Given the description of an element on the screen output the (x, y) to click on. 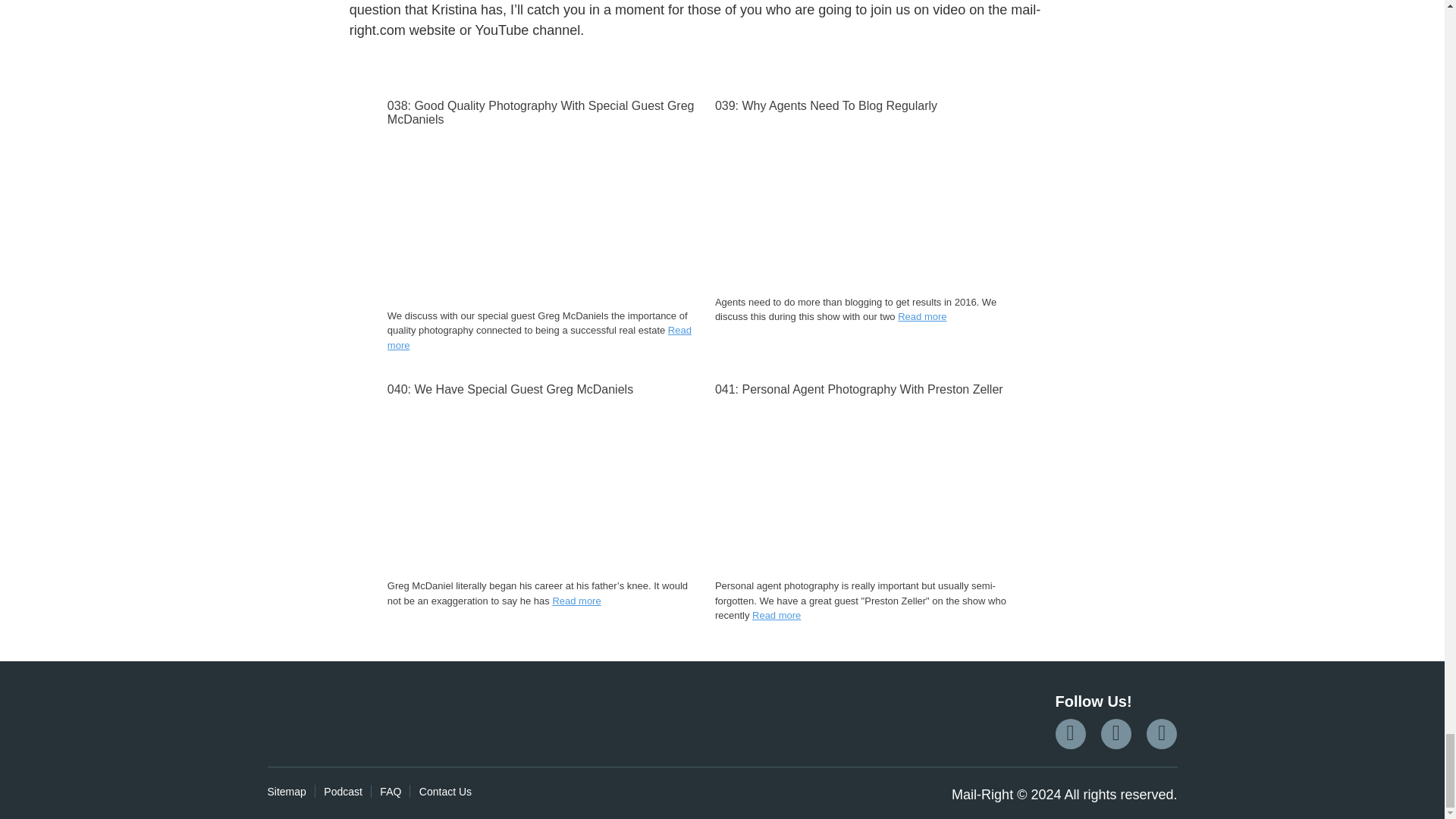
Contact Us (445, 791)
Podcast (342, 791)
040: We Have Special Guest Greg McDaniels (541, 568)
Read more (539, 337)
Read more (776, 614)
Read more (575, 600)
041: Personal Agent Photography With Preston Zeller (868, 568)
039: Why Agents Need To Blog Regularly (868, 106)
039:  Why Agents Need To Blog Regularly (868, 106)
Read more (922, 316)
041: Personal Agent Photography With Preston Zeller (868, 389)
Sitemap (285, 791)
FAQ (390, 791)
